Given the description of an element on the screen output the (x, y) to click on. 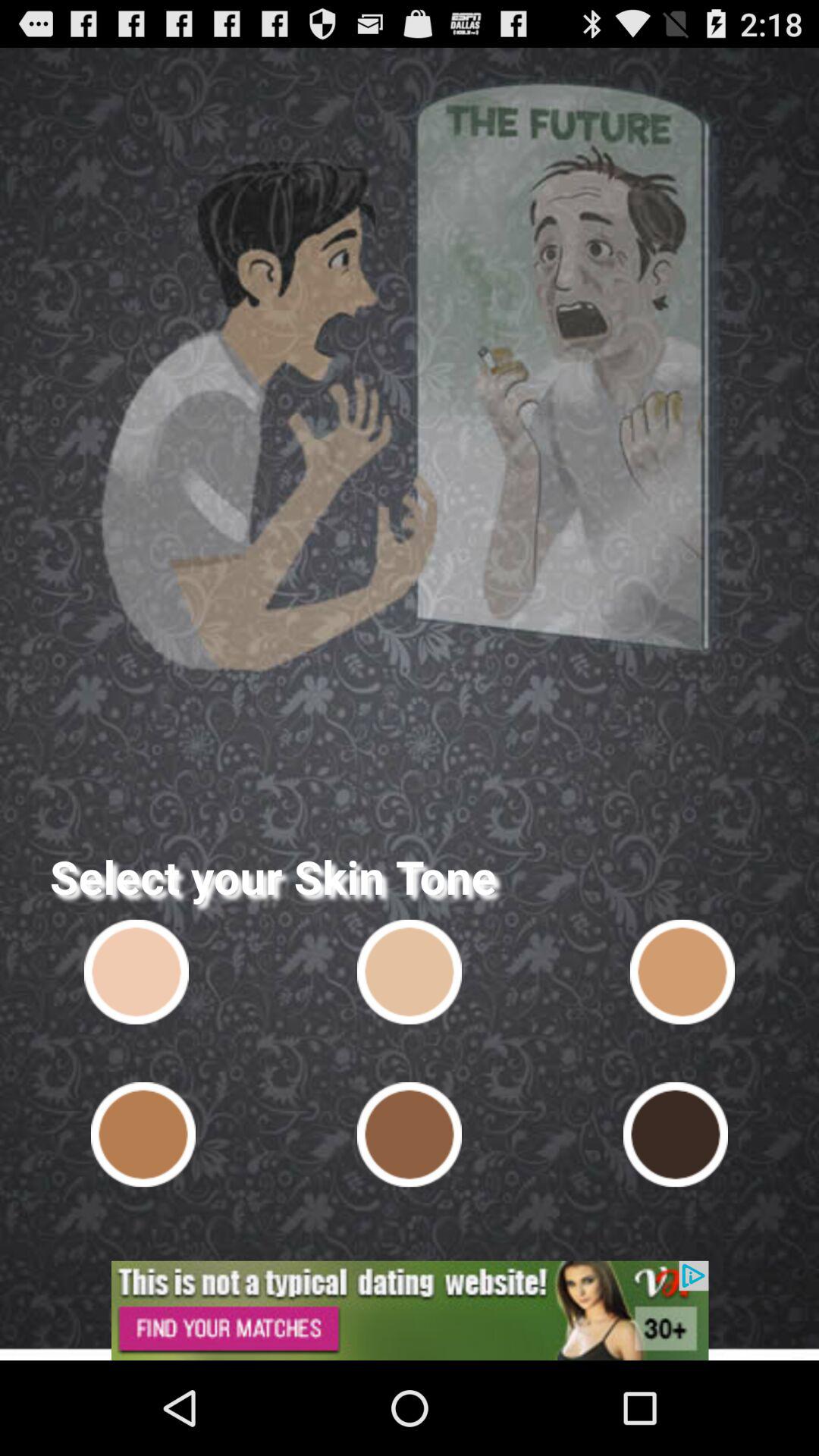
select skin tone option (675, 1134)
